Given the description of an element on the screen output the (x, y) to click on. 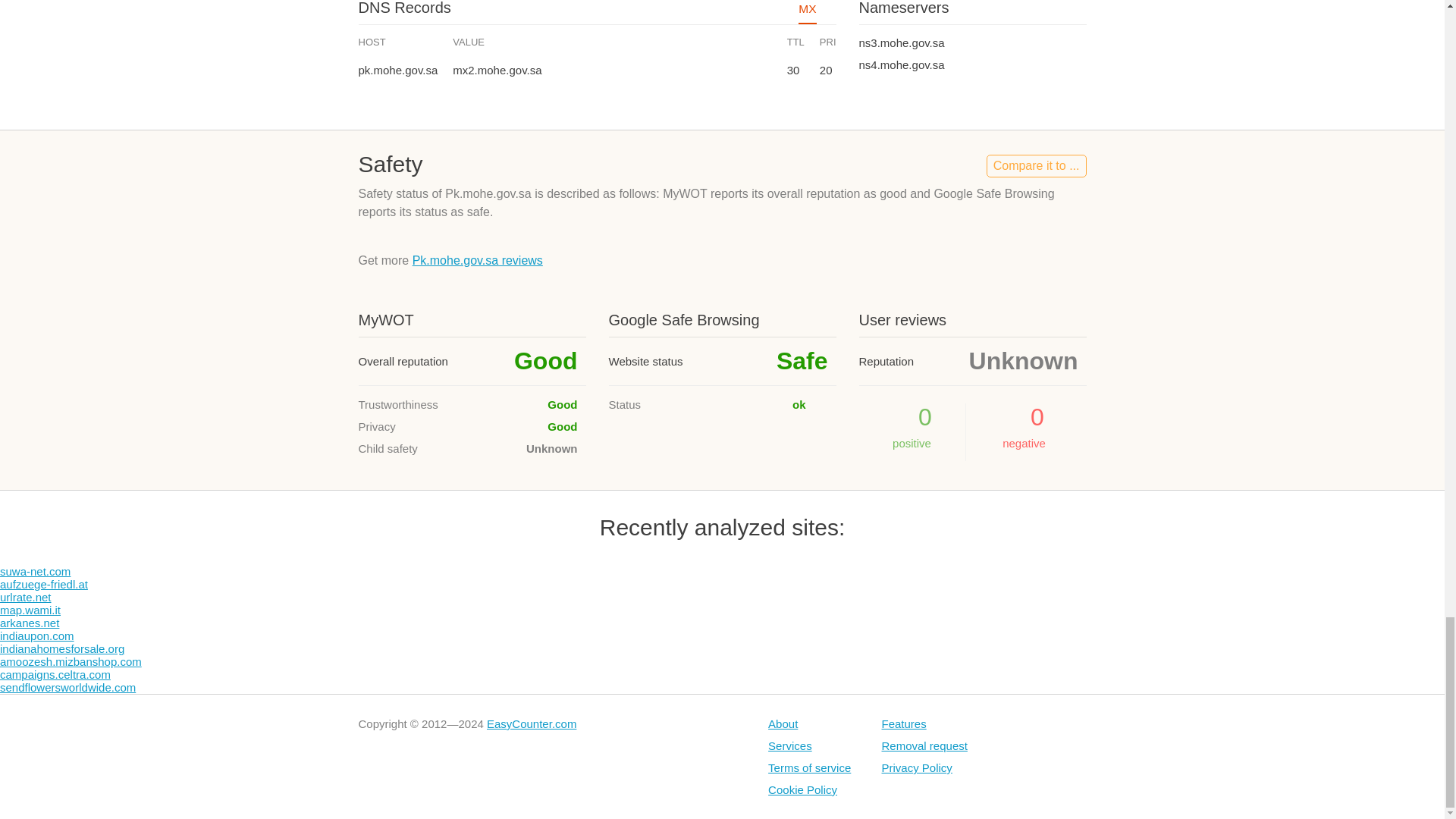
Pk.mohe.gov.sa reviews (477, 259)
MX (806, 13)
Compare it to ... (1036, 165)
urlrate.net (25, 596)
aufzuege-friedl.at (43, 584)
suwa-net.com (34, 571)
